Given the description of an element on the screen output the (x, y) to click on. 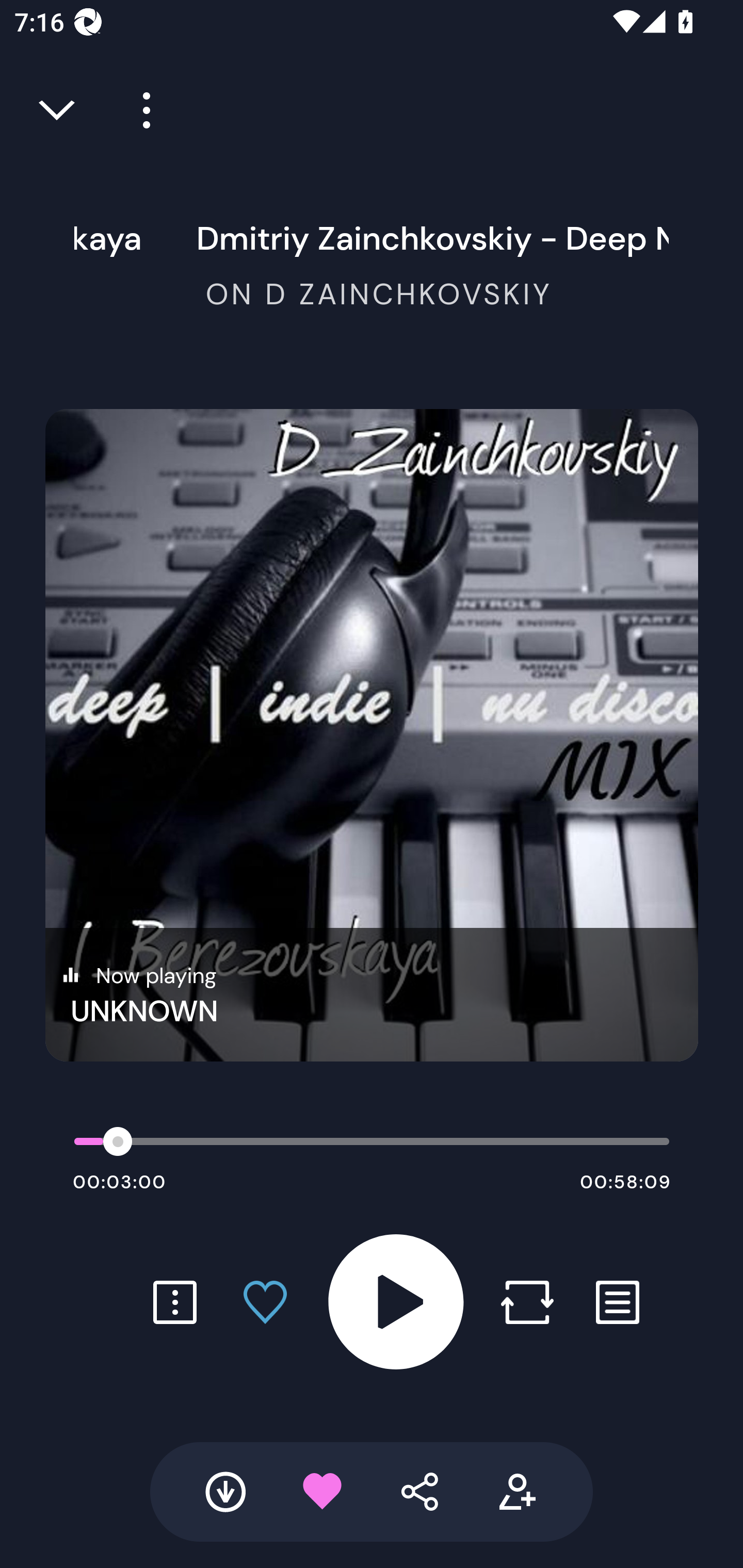
Close full player (58, 110)
Player more options button (139, 110)
Repost button (527, 1301)
